Given the description of an element on the screen output the (x, y) to click on. 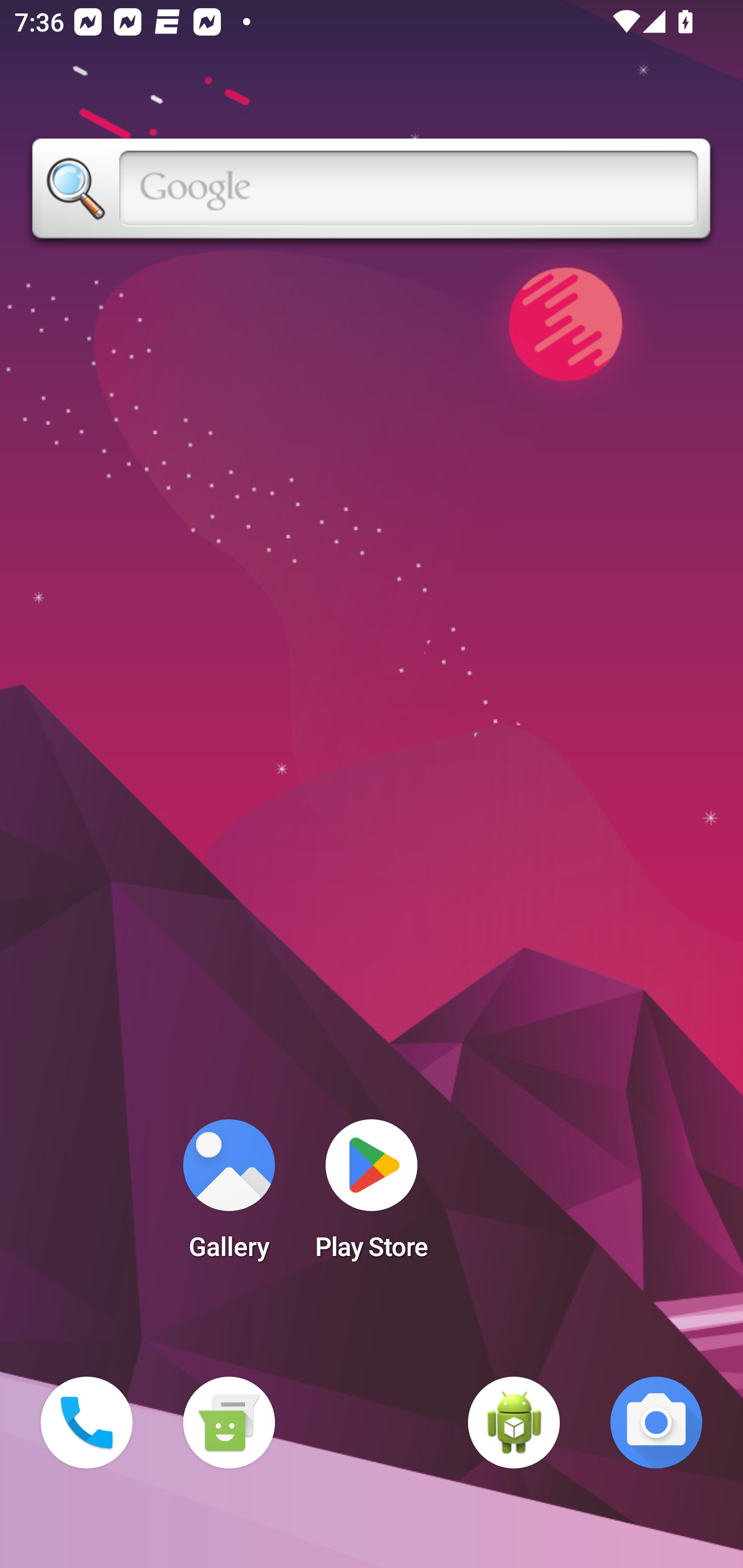
Gallery (228, 1195)
Play Store (371, 1195)
Phone (86, 1422)
Messaging (228, 1422)
WebView Browser Tester (513, 1422)
Camera (656, 1422)
